Given the description of an element on the screen output the (x, y) to click on. 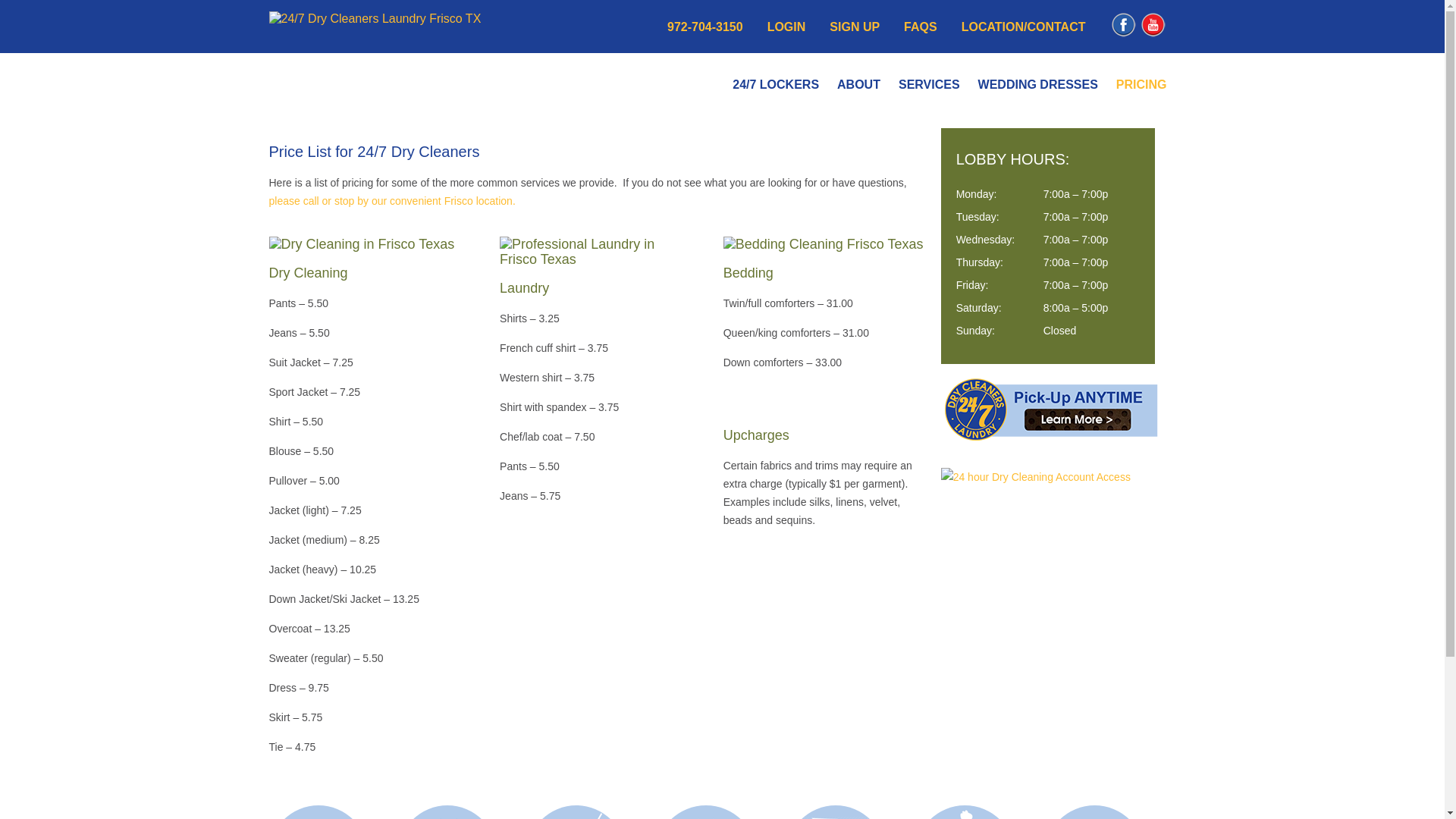
LOCATION/CONTACT Element type: text (1023, 26)
972-704-3150 Element type: text (705, 26)
ABOUT Element type: text (858, 84)
24/7 Dry  Cleaners Laundry Frisco TX Element type: hover (374, 18)
24/7 LOCKERS Element type: text (775, 84)
PRICING Element type: text (1141, 84)
FAQS Element type: text (920, 26)
SERVICES Element type: text (929, 84)
SIGN UP Element type: text (854, 26)
WEDDING DRESSES Element type: text (1038, 84)
FACEBOOK Element type: text (1123, 34)
please call or stop by our convenient Frisco location. Element type: text (391, 200)
LOGIN Element type: text (786, 26)
YOUTUBE Element type: text (1152, 34)
